Given the description of an element on the screen output the (x, y) to click on. 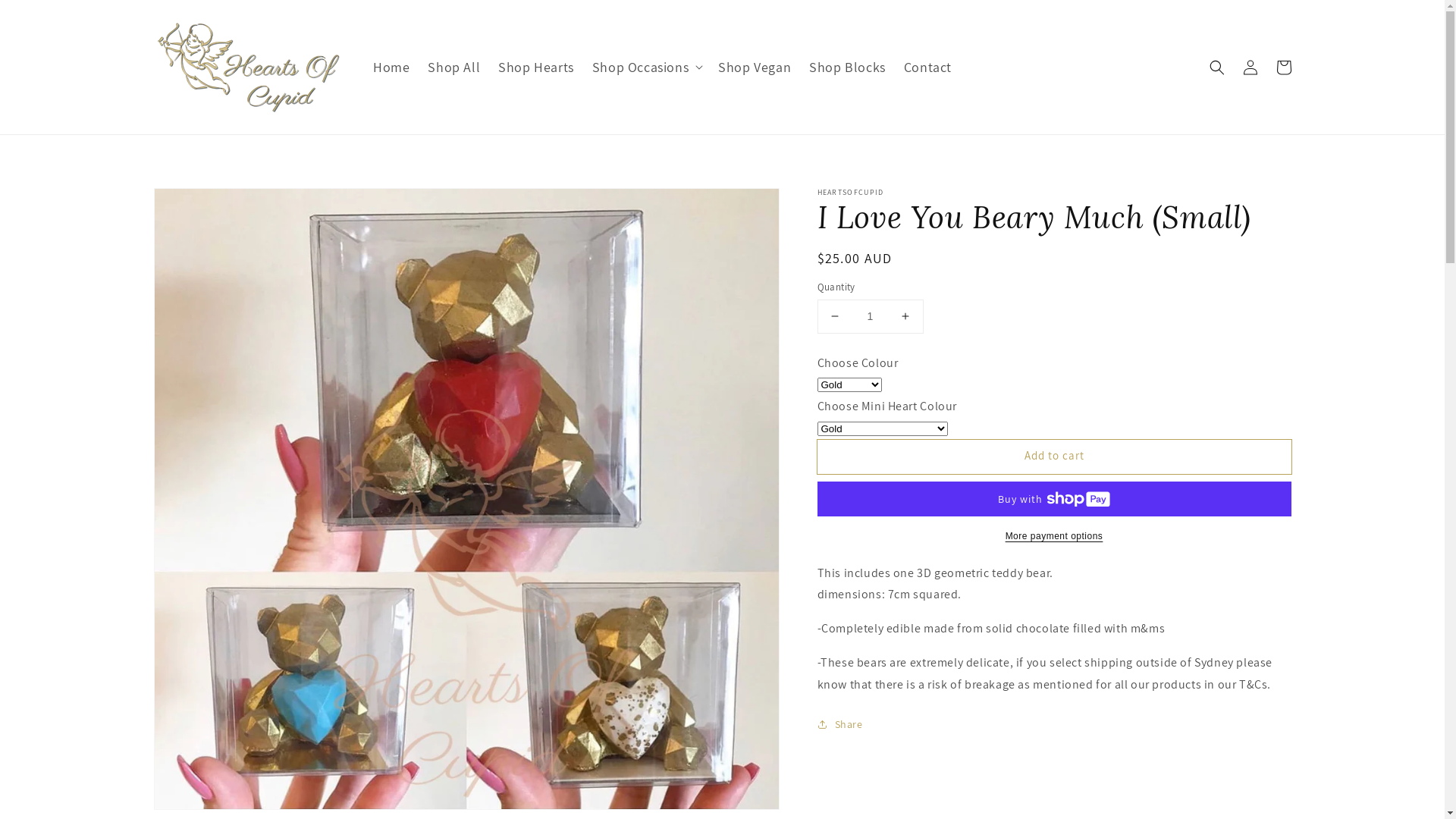
Home Element type: text (391, 66)
https://heartsofcupid.com.au/products/i-love-you-beary-much Element type: text (905, 773)
Shop Vegan Element type: text (754, 66)
Decrease quantity for I Love You Beary Much (Small) Element type: text (834, 316)
Contact Element type: text (927, 66)
Shop All Element type: text (453, 66)
Add to cart Element type: text (1054, 456)
Cart Element type: text (1282, 66)
Log in Element type: text (1249, 66)
Shop Blocks Element type: text (847, 66)
Skip to product information Element type: text (198, 204)
Increase quantity for I Love You Beary Much (Small) Element type: text (905, 316)
More payment options Element type: text (1054, 535)
Shop Hearts Element type: text (536, 66)
